Given the description of an element on the screen output the (x, y) to click on. 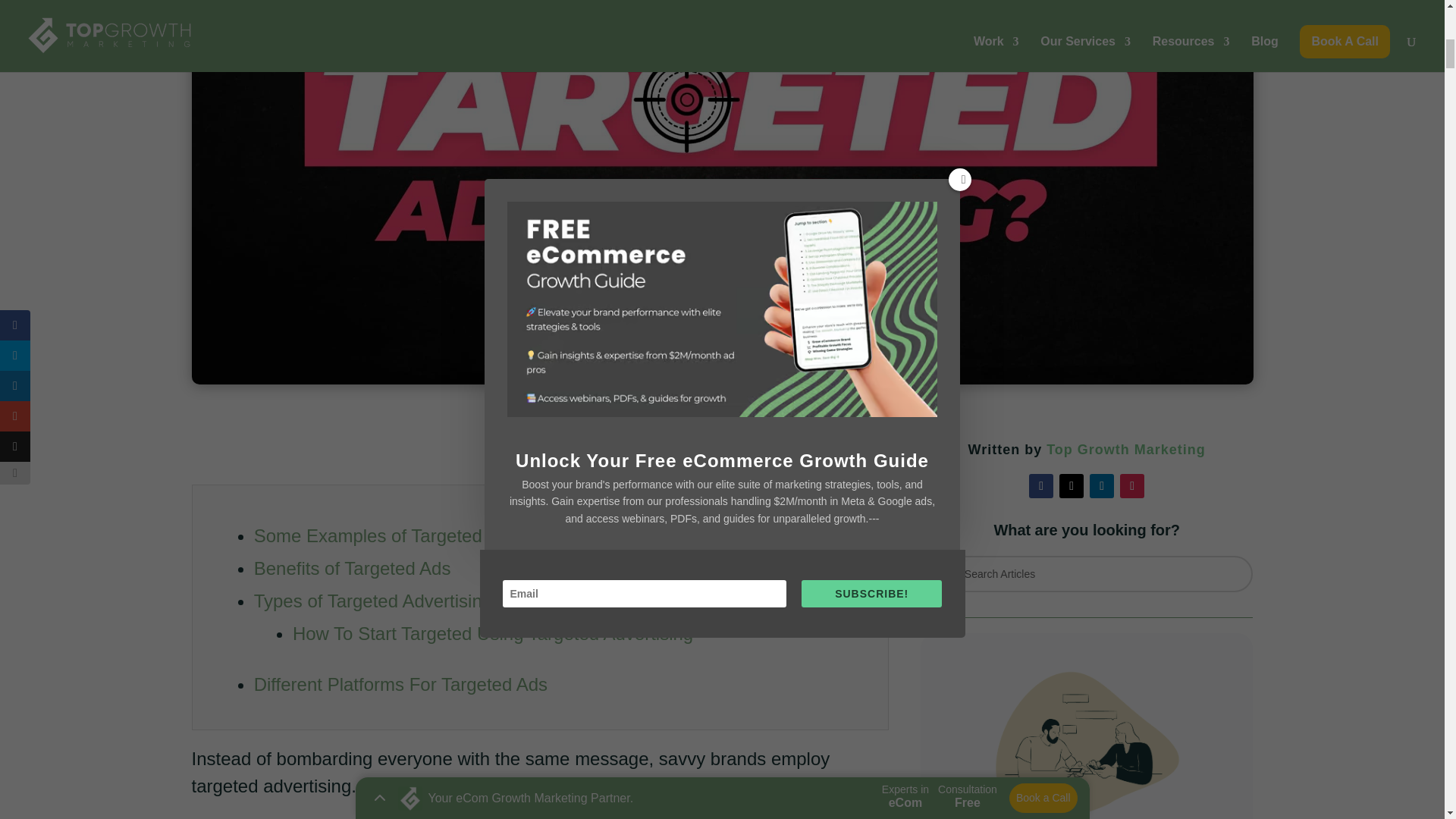
Follow on X (1071, 485)
Follow on LinkedIn (1101, 485)
Follow on Instagram (1131, 485)
Follow on Facebook (1040, 485)
